Given the description of an element on the screen output the (x, y) to click on. 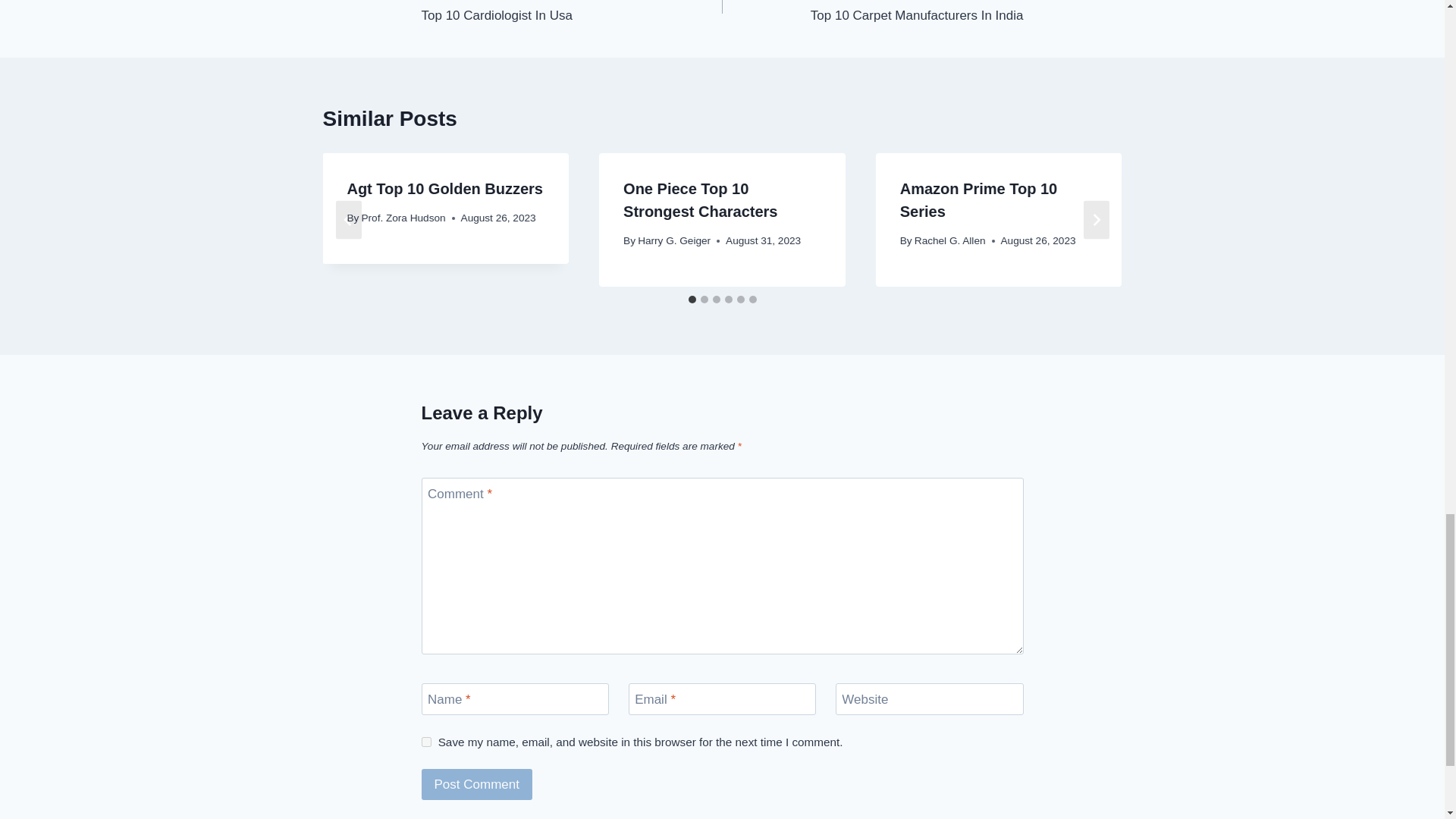
Prof. Zora Hudson (403, 217)
yes (426, 741)
Agt Top 10 Golden Buzzers (572, 12)
Post Comment (872, 12)
